Given the description of an element on the screen output the (x, y) to click on. 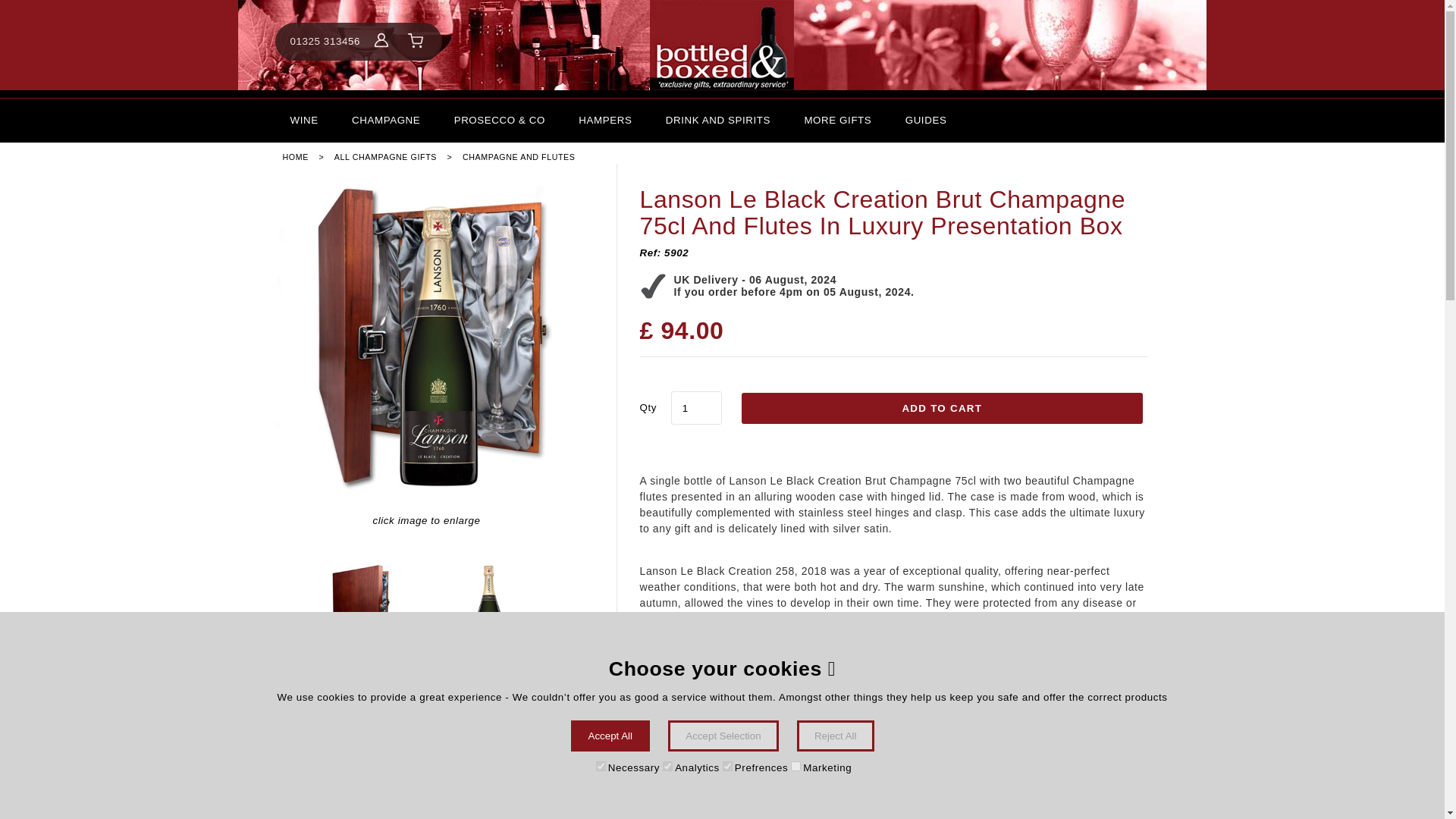
Basket button (415, 41)
Necessary (600, 766)
Wine Delivery in the UK (304, 120)
Accout button (380, 41)
Marketing (795, 766)
WINE (304, 120)
View Basket (415, 41)
Prefrences (727, 766)
Manage Account (380, 41)
Accout button (381, 39)
Analytics (667, 766)
Home (721, 45)
Basket button (415, 40)
1 (696, 408)
